Given the description of an element on the screen output the (x, y) to click on. 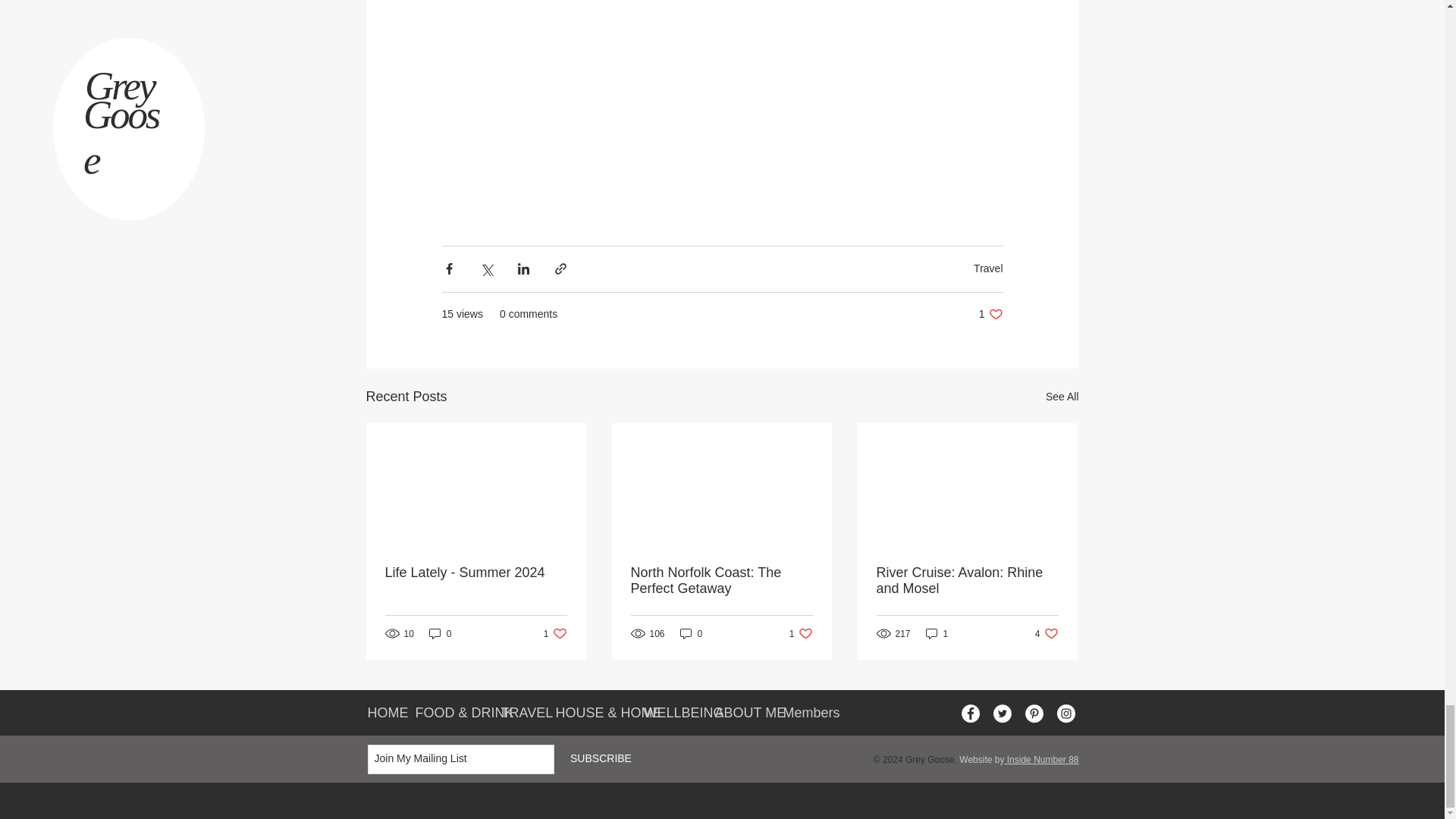
Life Lately - Summer 2024 (476, 572)
0 (691, 633)
1 (800, 633)
0 (1046, 633)
North Norfolk Coast: The Perfect Getaway (937, 633)
River Cruise: Avalon: Rhine and Mosel (990, 314)
See All (440, 633)
Travel (721, 581)
